Given the description of an element on the screen output the (x, y) to click on. 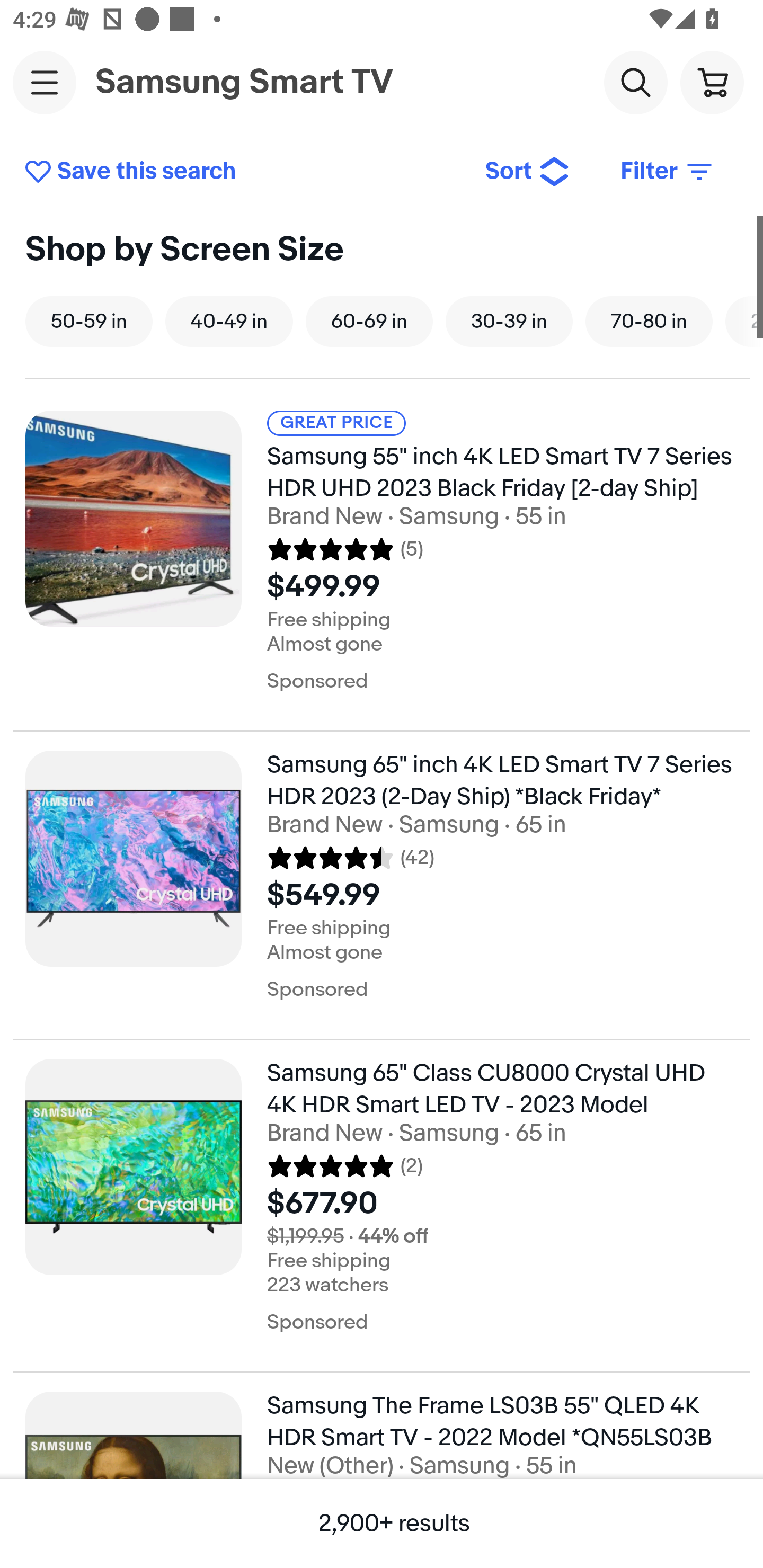
Main navigation, open (44, 82)
Search (635, 81)
Cart button shopping cart (711, 81)
Save this search (241, 171)
Sort (527, 171)
Filter (667, 171)
50-59 in 50-59 in, Screen Size (88, 321)
40-49 in 40-49 in, Screen Size (228, 321)
60-69 in 60-69 in, Screen Size (368, 321)
30-39 in 30-39 in, Screen Size (509, 321)
70-80 in 70-80 in, Screen Size (648, 321)
